Given the description of an element on the screen output the (x, y) to click on. 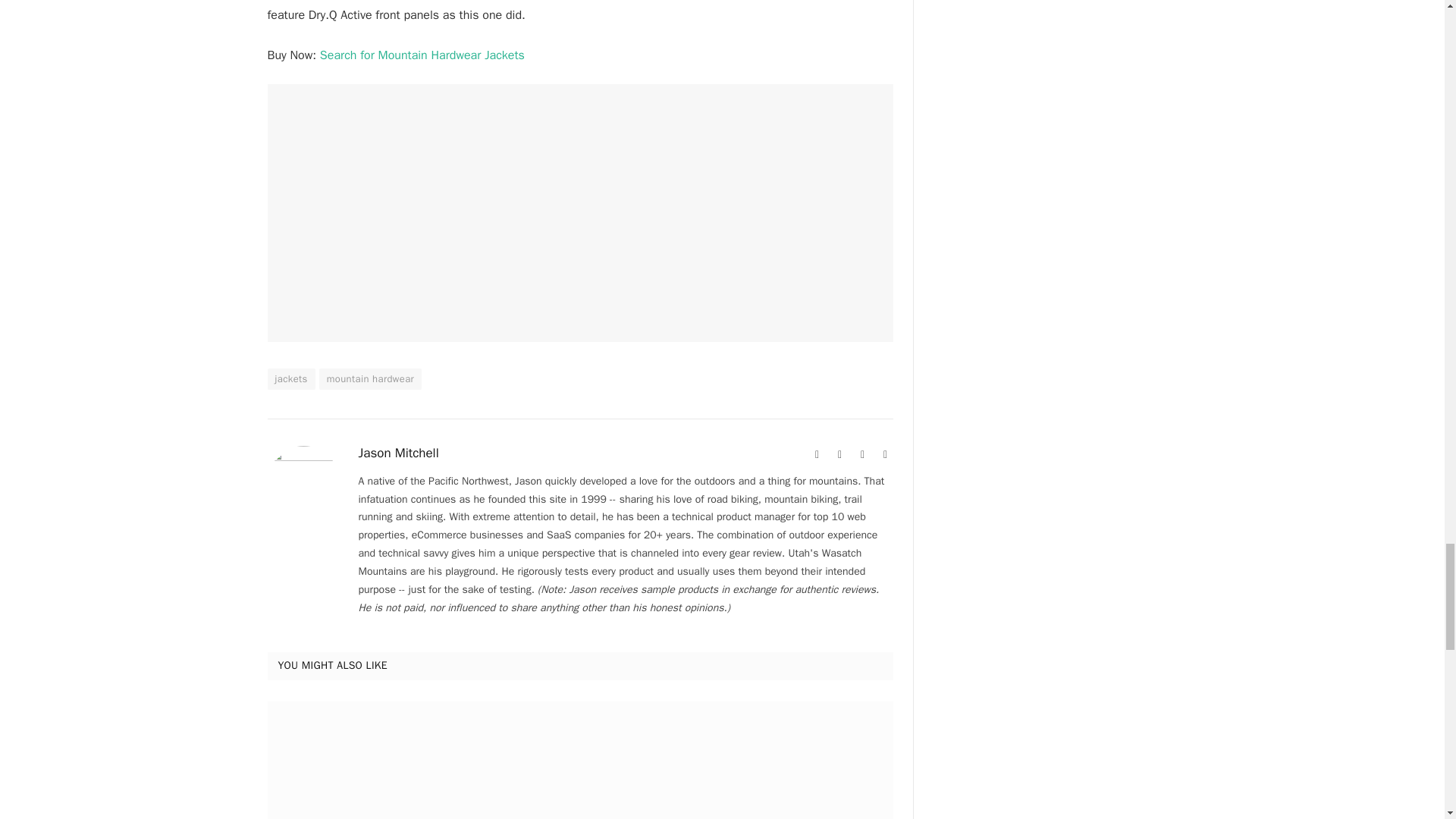
Posts by Jason Mitchell (398, 453)
mountain hardwear (370, 378)
jackets (290, 378)
Instagram (863, 454)
Website (817, 454)
Jason Mitchell (398, 453)
Search for Mountain Hardwear Jackets (422, 54)
Website (817, 454)
